Given the description of an element on the screen output the (x, y) to click on. 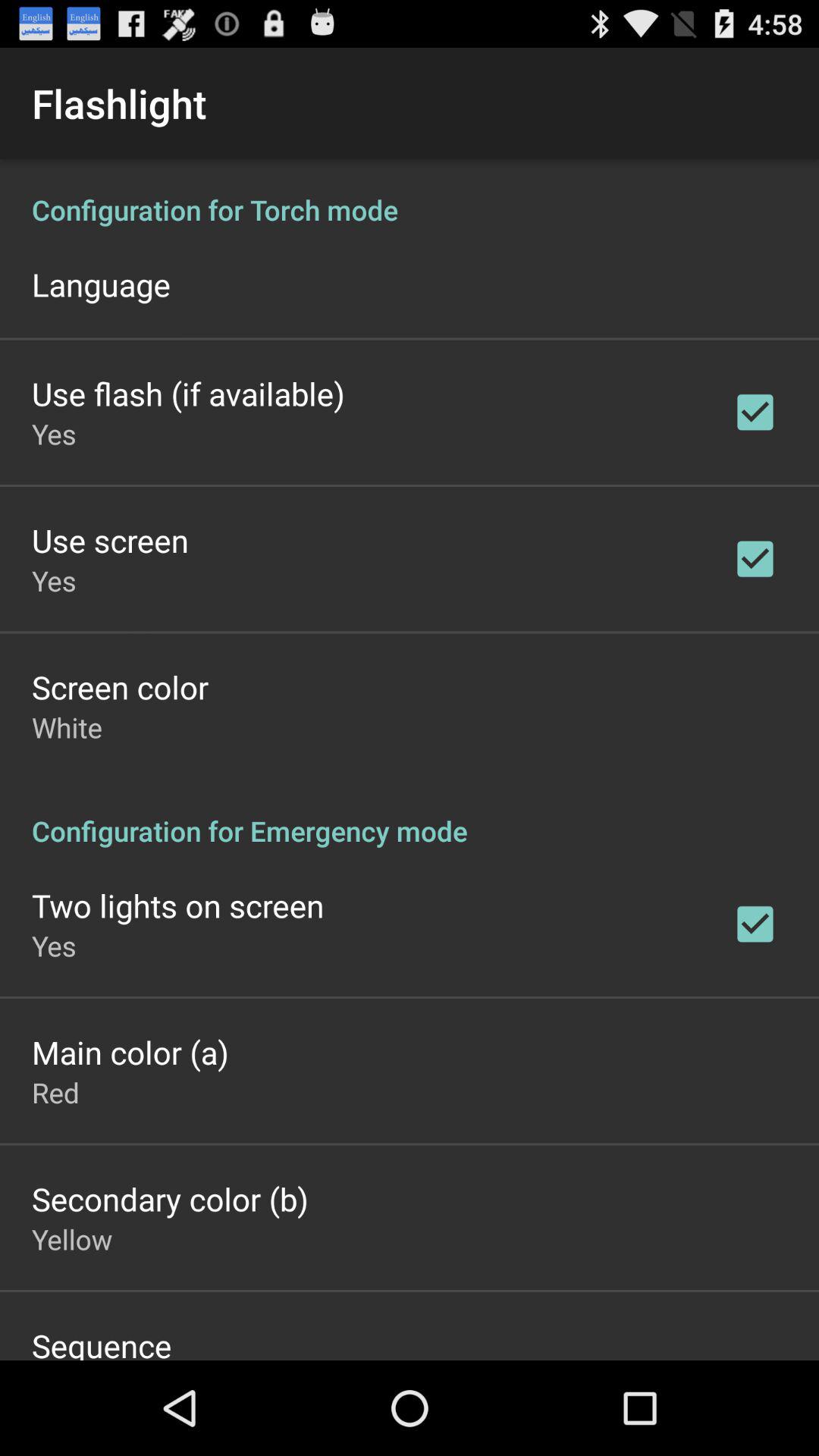
click the icon below configuration for emergency icon (177, 905)
